Given the description of an element on the screen output the (x, y) to click on. 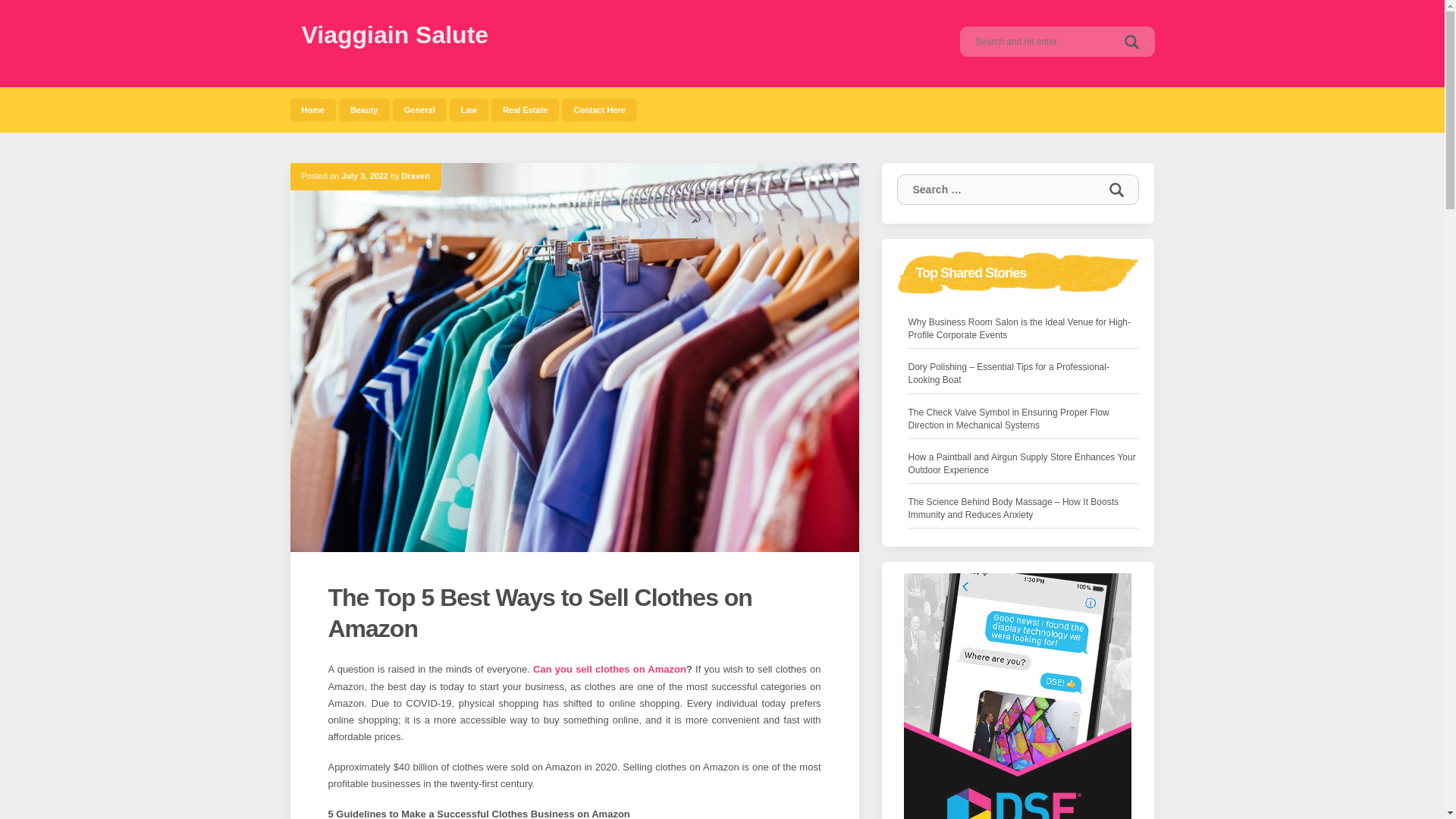
Search (1131, 41)
Search (1115, 189)
July 3, 2022 (364, 175)
Beauty (364, 109)
General (419, 109)
Beauty (364, 109)
Search (1115, 189)
Contact Here (599, 109)
Real Estate (525, 109)
Home (312, 109)
Search (1115, 189)
Law (468, 109)
Search (1131, 41)
Home (312, 109)
